Given the description of an element on the screen output the (x, y) to click on. 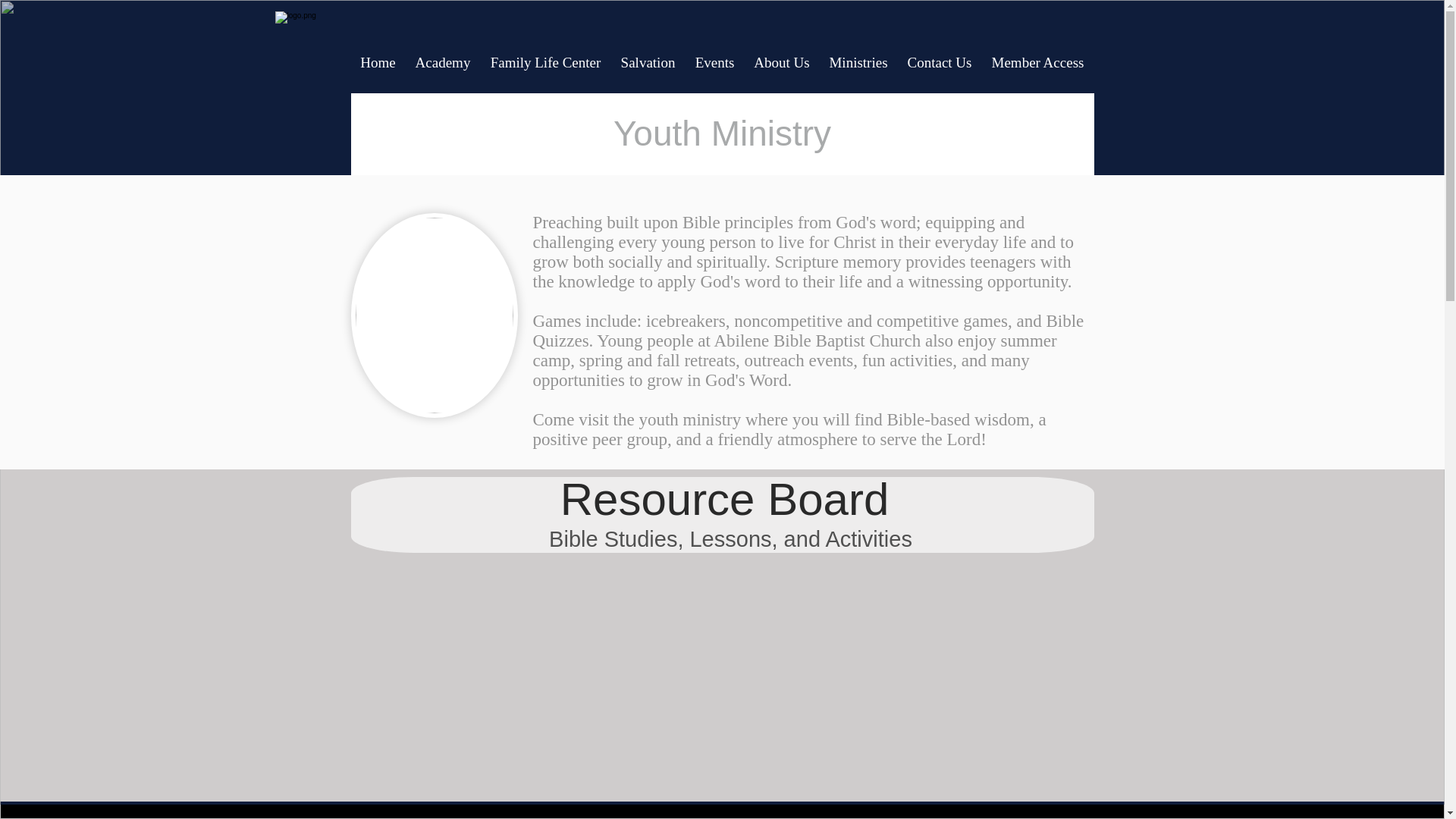
Ministries (857, 62)
Family Life Center (545, 62)
Events (714, 62)
Home (377, 62)
Salvation (648, 62)
Contact Us (939, 62)
Member Access (1037, 62)
About Us (781, 62)
Academy (442, 62)
